Given the description of an element on the screen output the (x, y) to click on. 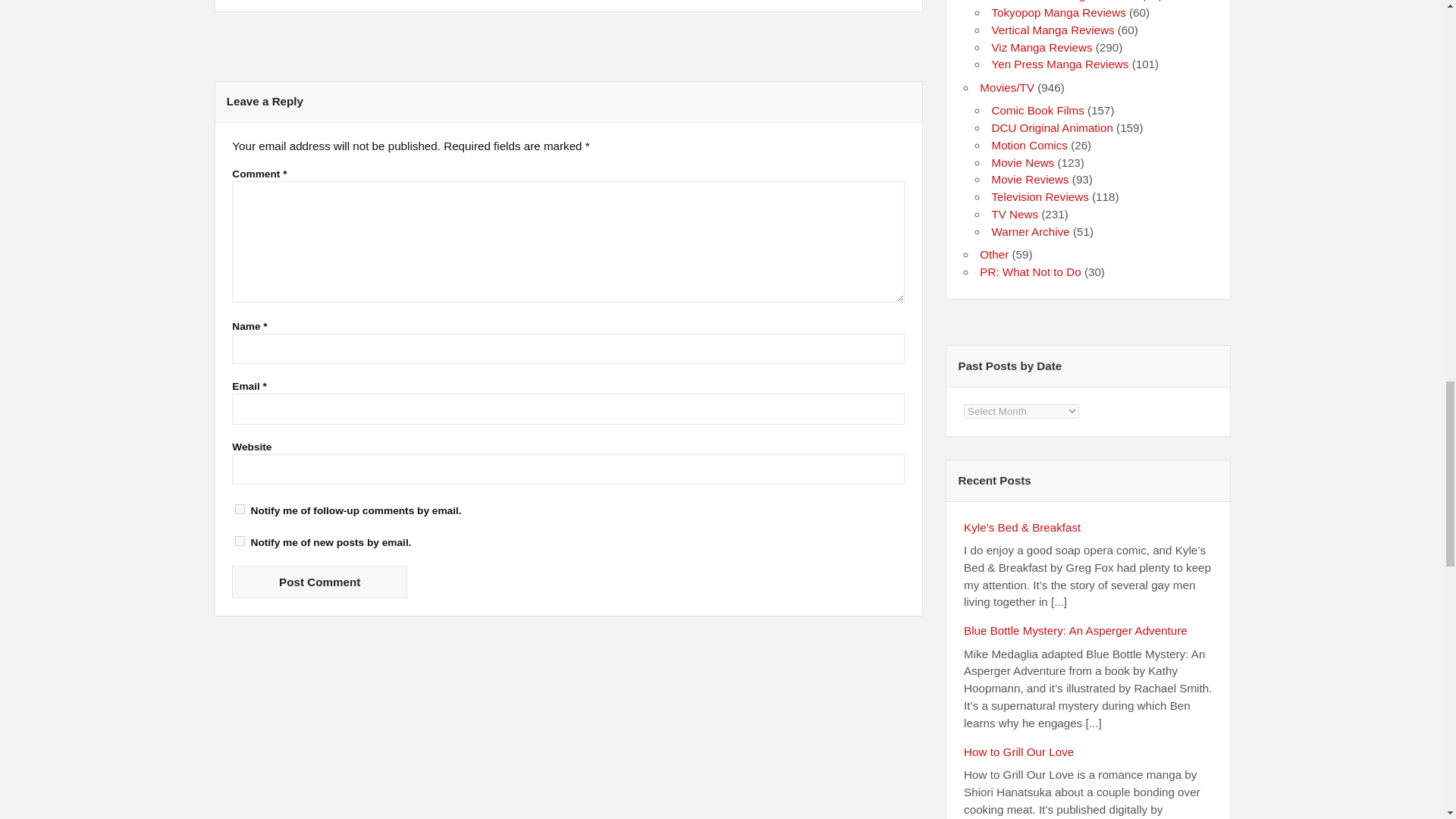
subscribe (239, 541)
subscribe (239, 509)
Post Comment (319, 581)
Post Comment (319, 581)
